Given the description of an element on the screen output the (x, y) to click on. 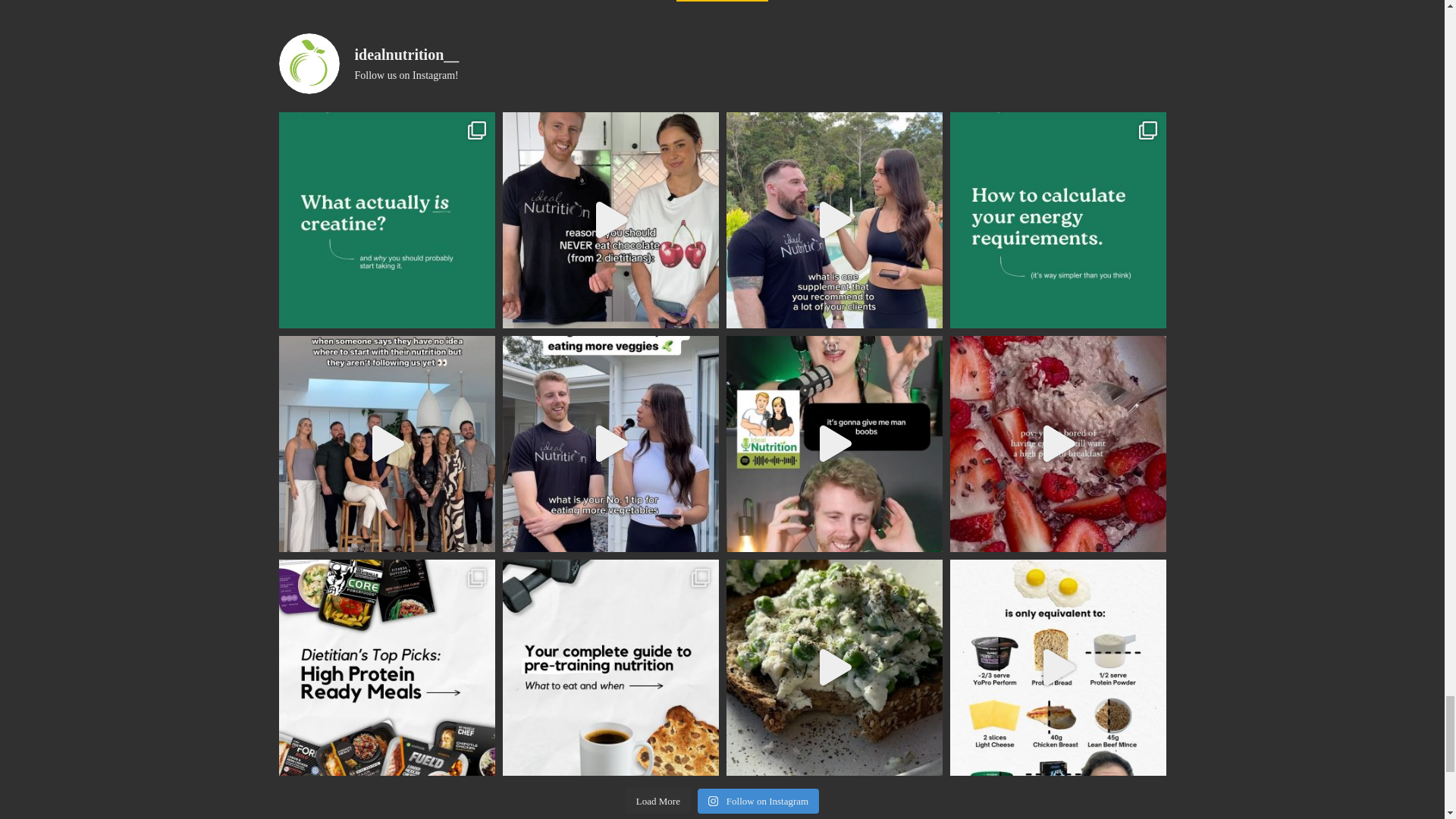
Subscribe (722, 0)
Subscribe (722, 0)
